Given the description of an element on the screen output the (x, y) to click on. 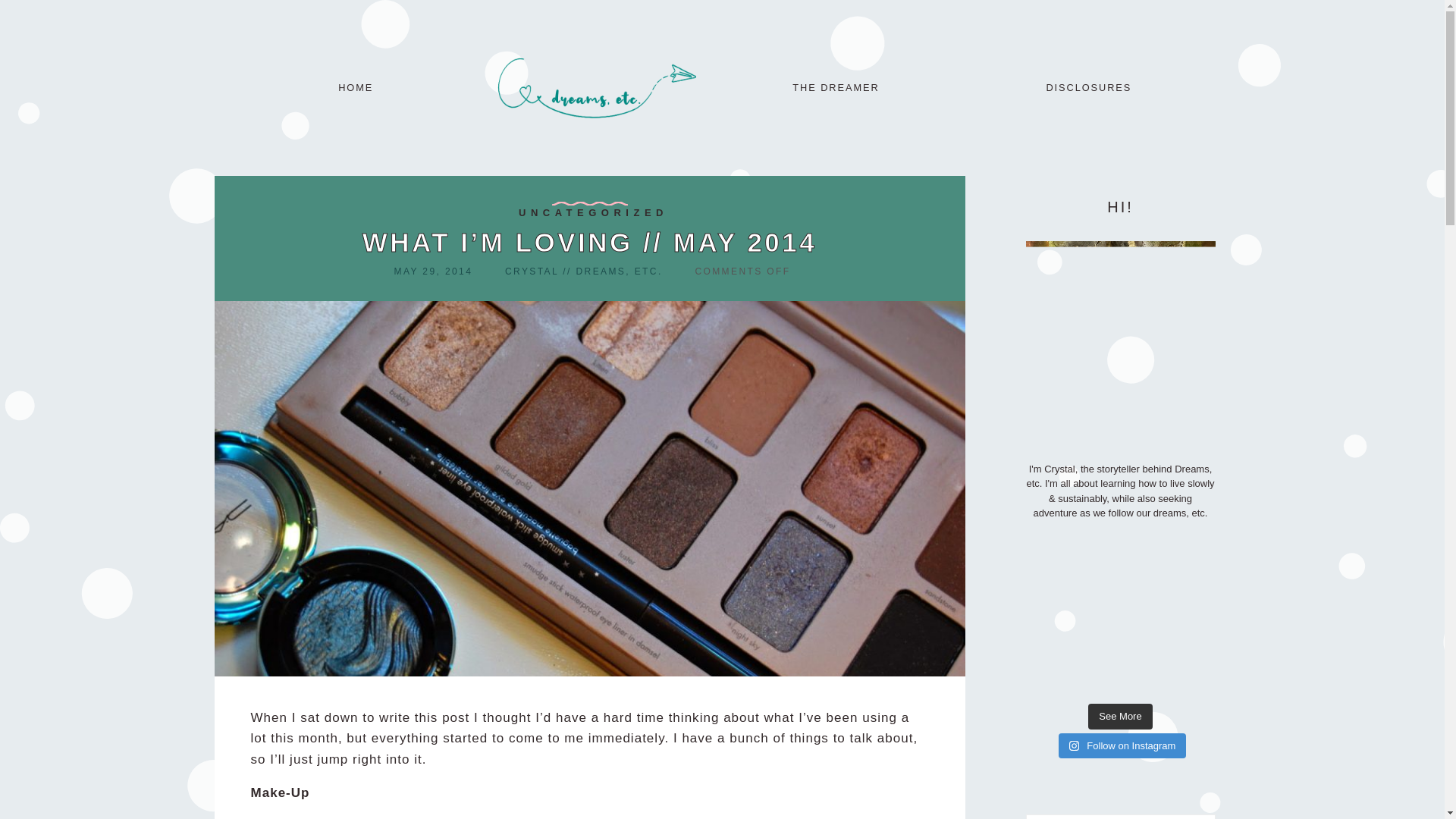
HOME (354, 87)
MAY 29, 2014 (432, 271)
DISCLOSURES (1088, 87)
UNCATEGORIZED (593, 212)
THE DREAMER (835, 87)
